Given the description of an element on the screen output the (x, y) to click on. 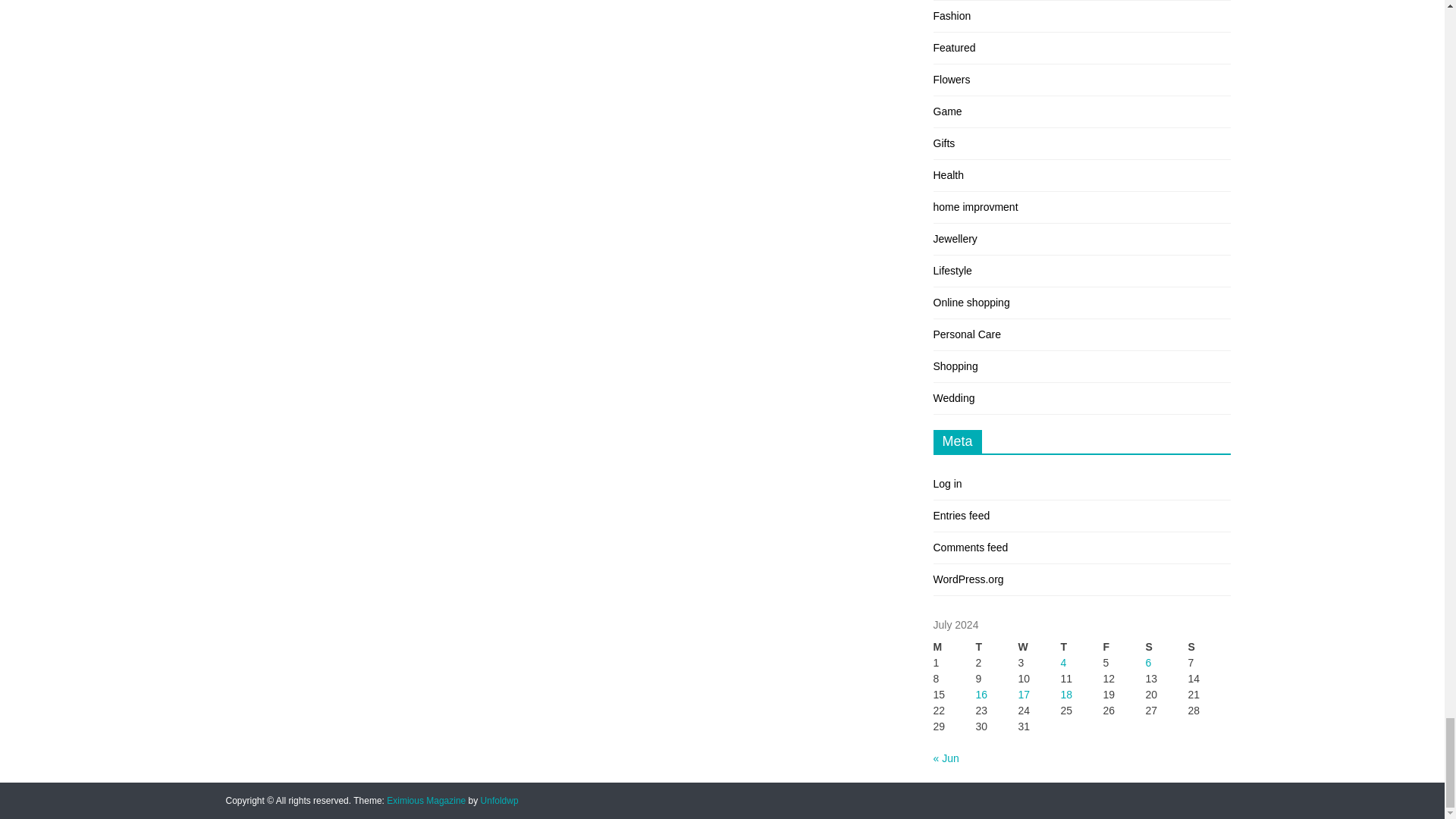
Thursday (1080, 647)
Monday (954, 647)
Friday (1123, 647)
Tuesday (996, 647)
Sunday (1209, 647)
Wednesday (1038, 647)
Saturday (1166, 647)
